Given the description of an element on the screen output the (x, y) to click on. 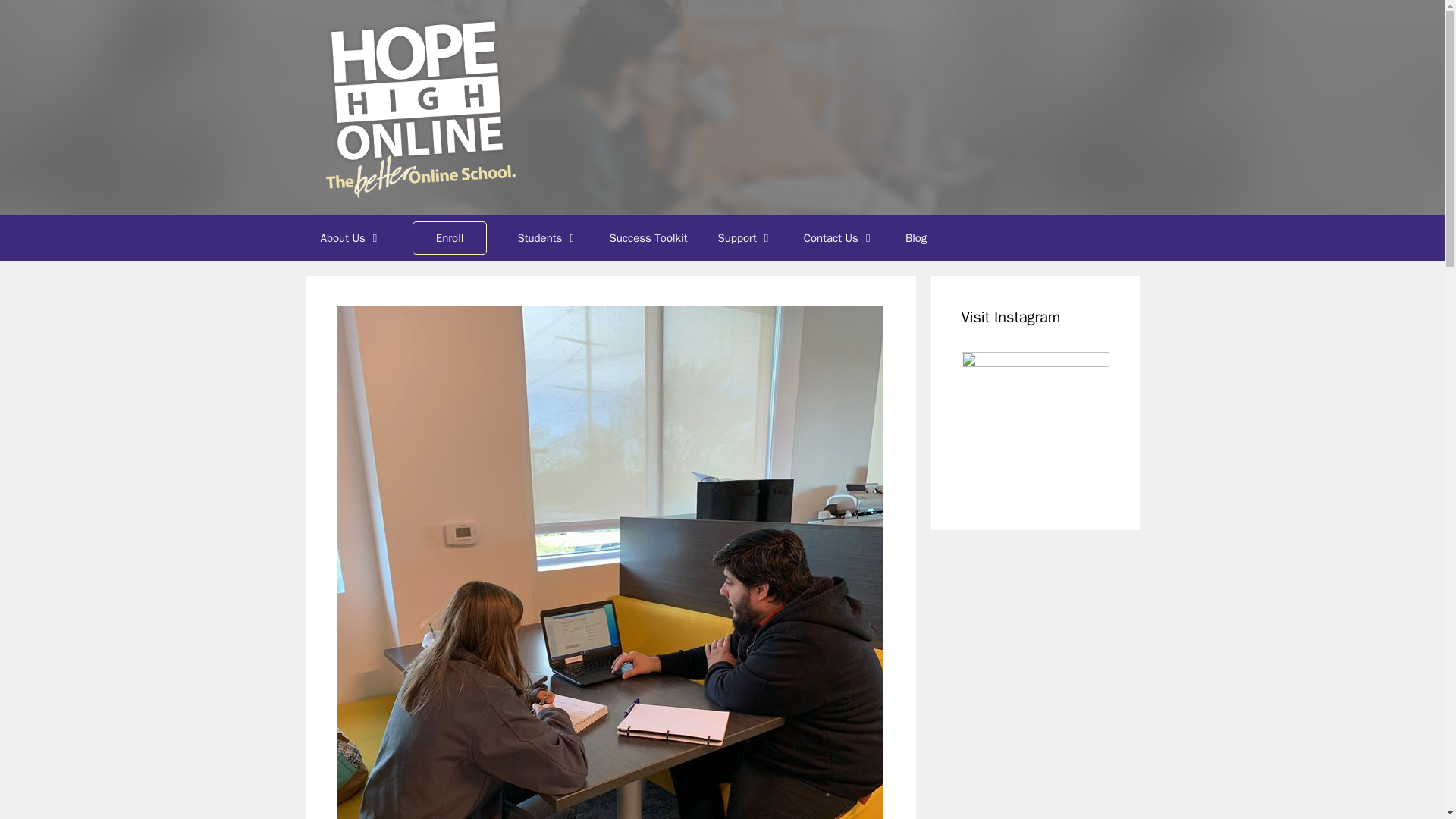
Enroll (449, 238)
Students (548, 238)
About Us (350, 238)
